Given the description of an element on the screen output the (x, y) to click on. 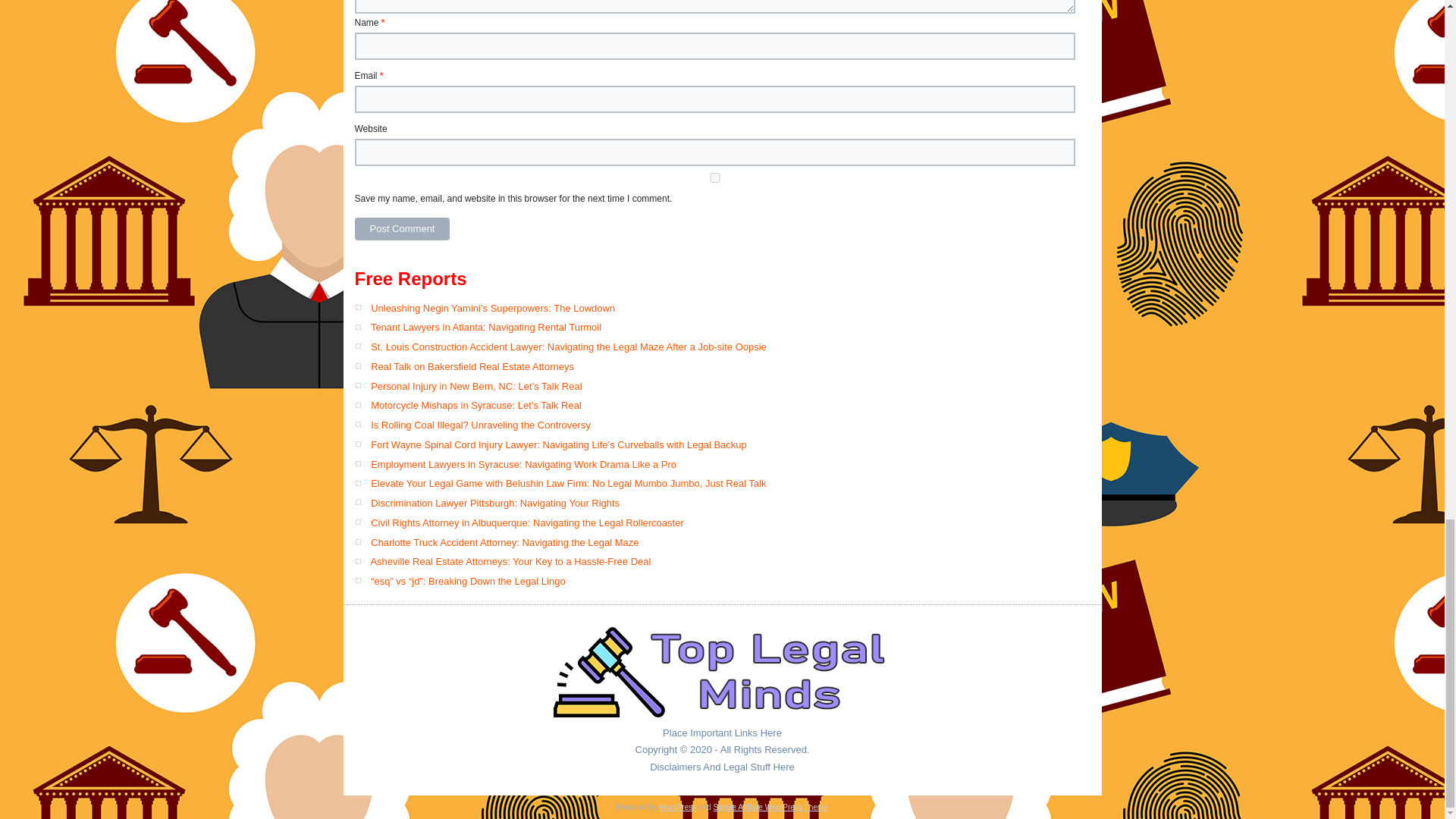
Post Comment (402, 228)
Is Rolling Coal Illegal? Unraveling the Controversy (481, 424)
yes (715, 177)
Discrimination Lawyer Pittsburgh: Navigating Your Rights (495, 502)
Tenant Lawyers in Atlanta: Navigating Rental Turmoil (486, 326)
Charlotte Truck Accident Attorney: Navigating the Legal Maze (505, 542)
Post Comment (402, 228)
WordPress (677, 807)
Simple Affiliate WordPress Theme (770, 807)
Real Talk on Bakersfield Real Estate Attorneys (472, 366)
